Given the description of an element on the screen output the (x, y) to click on. 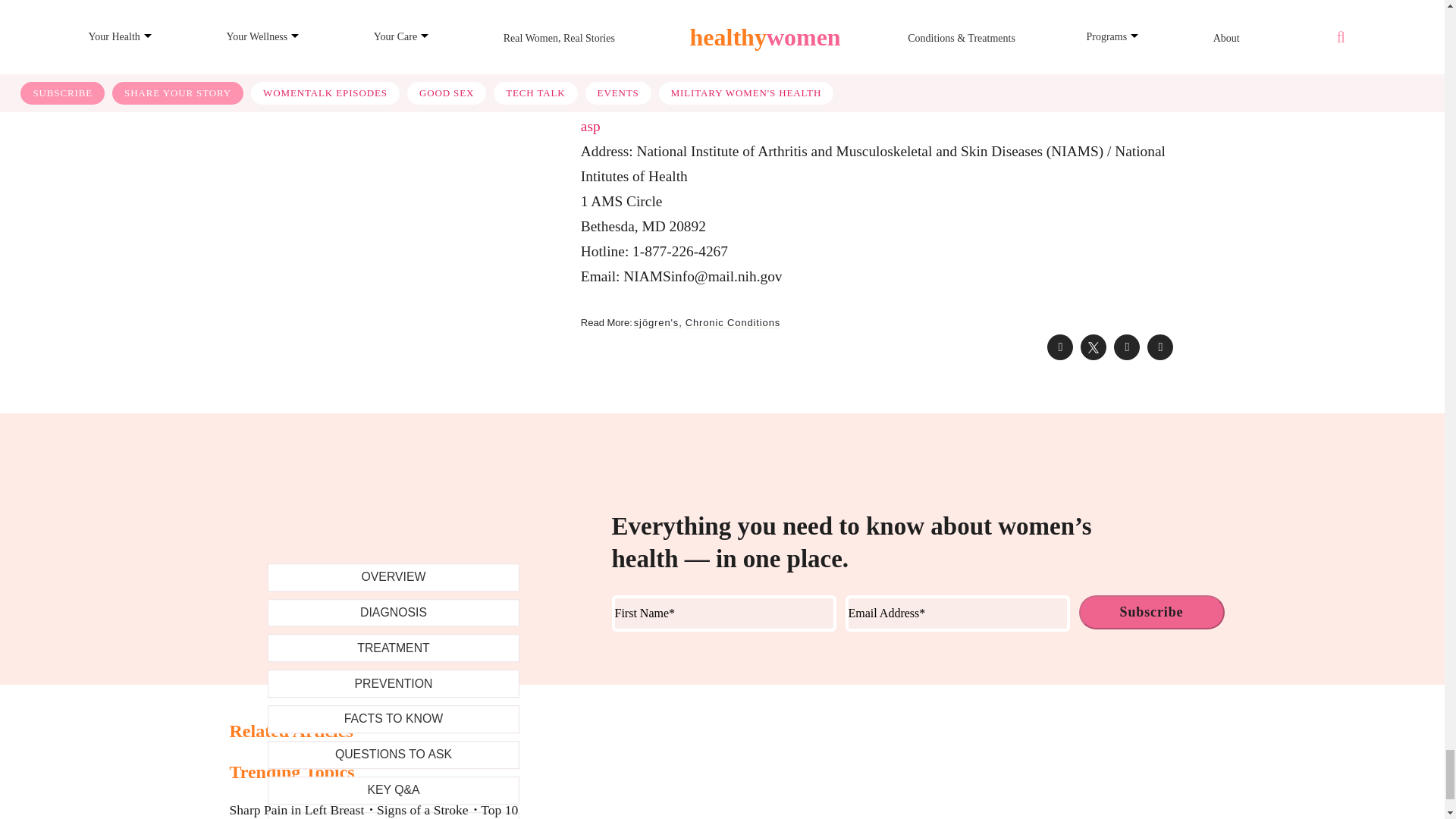
Subscribe (1151, 612)
